Given the description of an element on the screen output the (x, y) to click on. 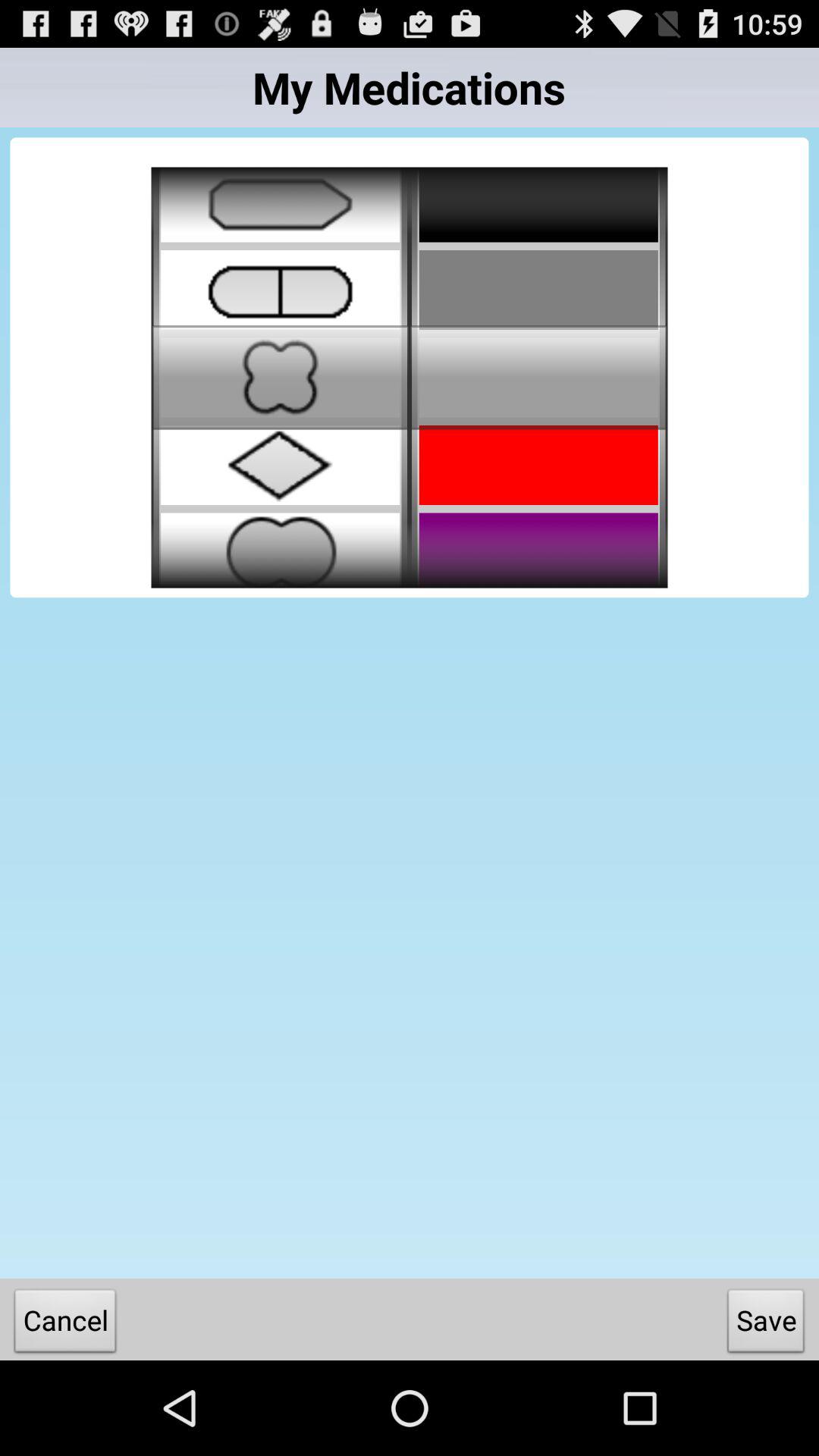
tap the button to the right of the cancel button (765, 1324)
